Given the description of an element on the screen output the (x, y) to click on. 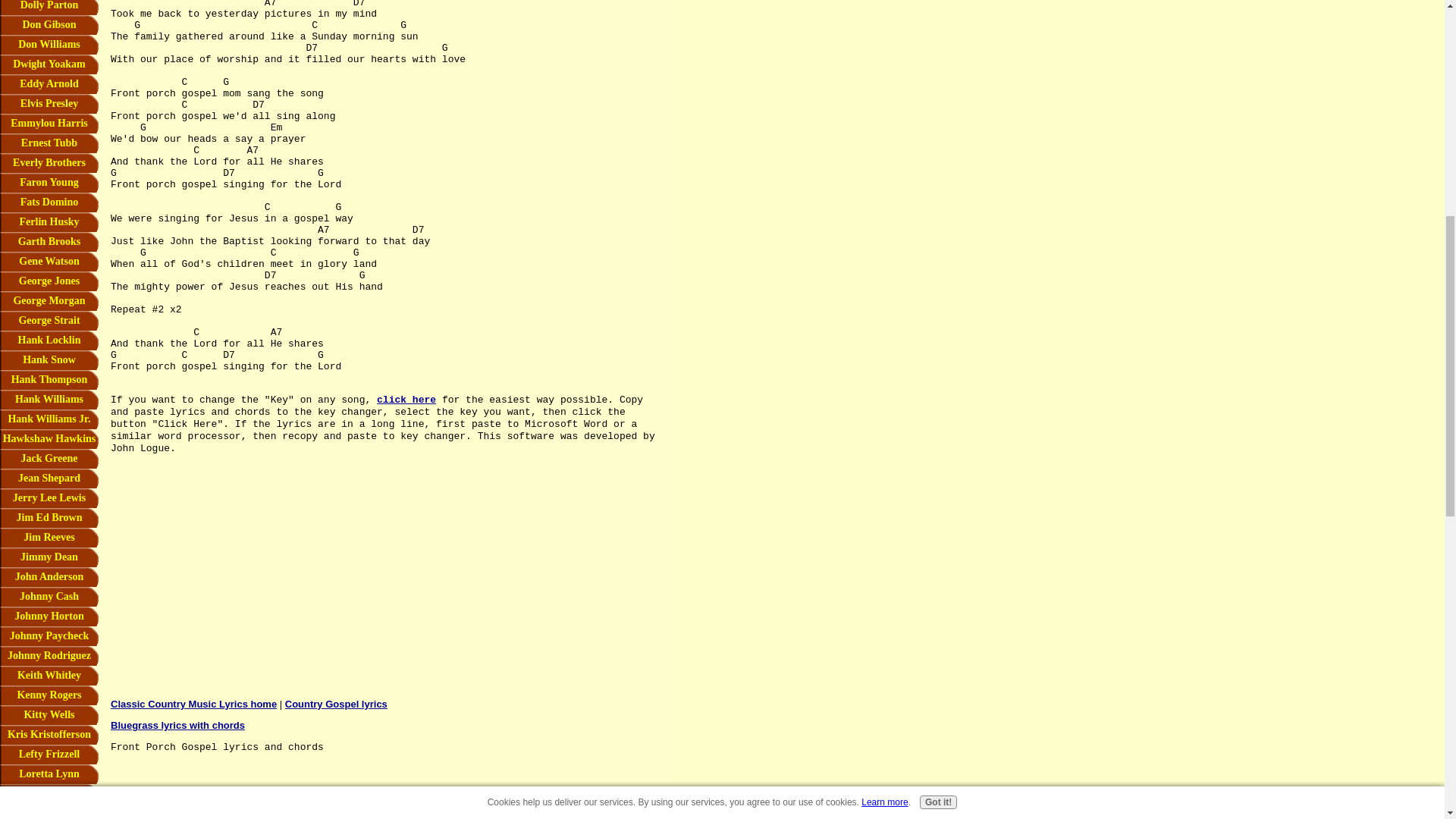
Eddy Arnold (49, 84)
Garth Brooks (49, 241)
Elvis Presley (49, 103)
George Strait (49, 320)
George Morgan (49, 301)
Faron Young (49, 182)
Fats Domino (49, 202)
Dwight Yoakam (49, 64)
Dolly Parton (49, 7)
Everly Brothers (49, 162)
Ferlin Husky (49, 221)
Gene Watson (49, 261)
Advertisement (257, 558)
Don Williams (49, 44)
Don Gibson (49, 25)
